Given the description of an element on the screen output the (x, y) to click on. 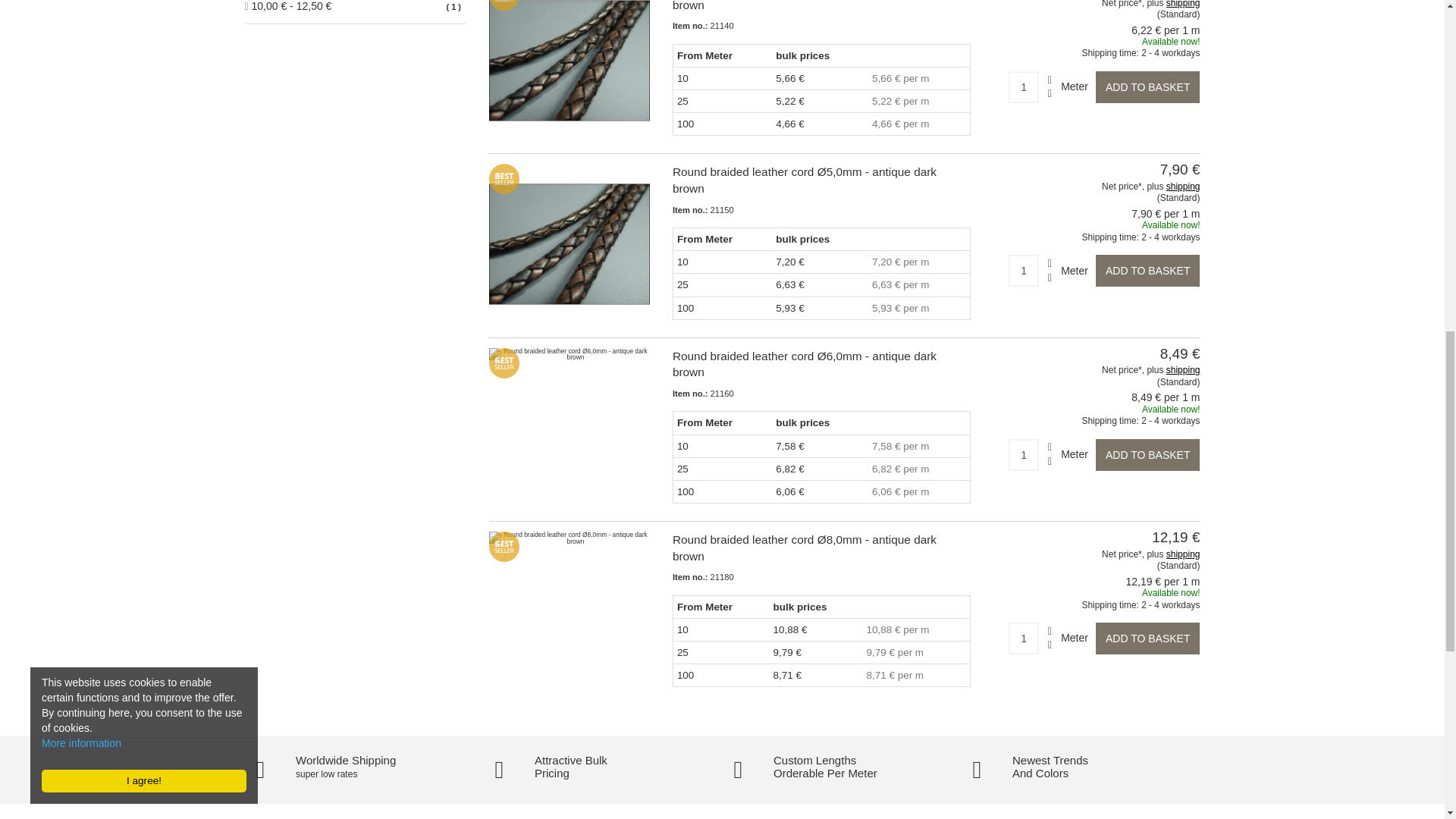
1 (1024, 638)
1 (1024, 87)
1 (1024, 454)
1 (1024, 270)
